Given the description of an element on the screen output the (x, y) to click on. 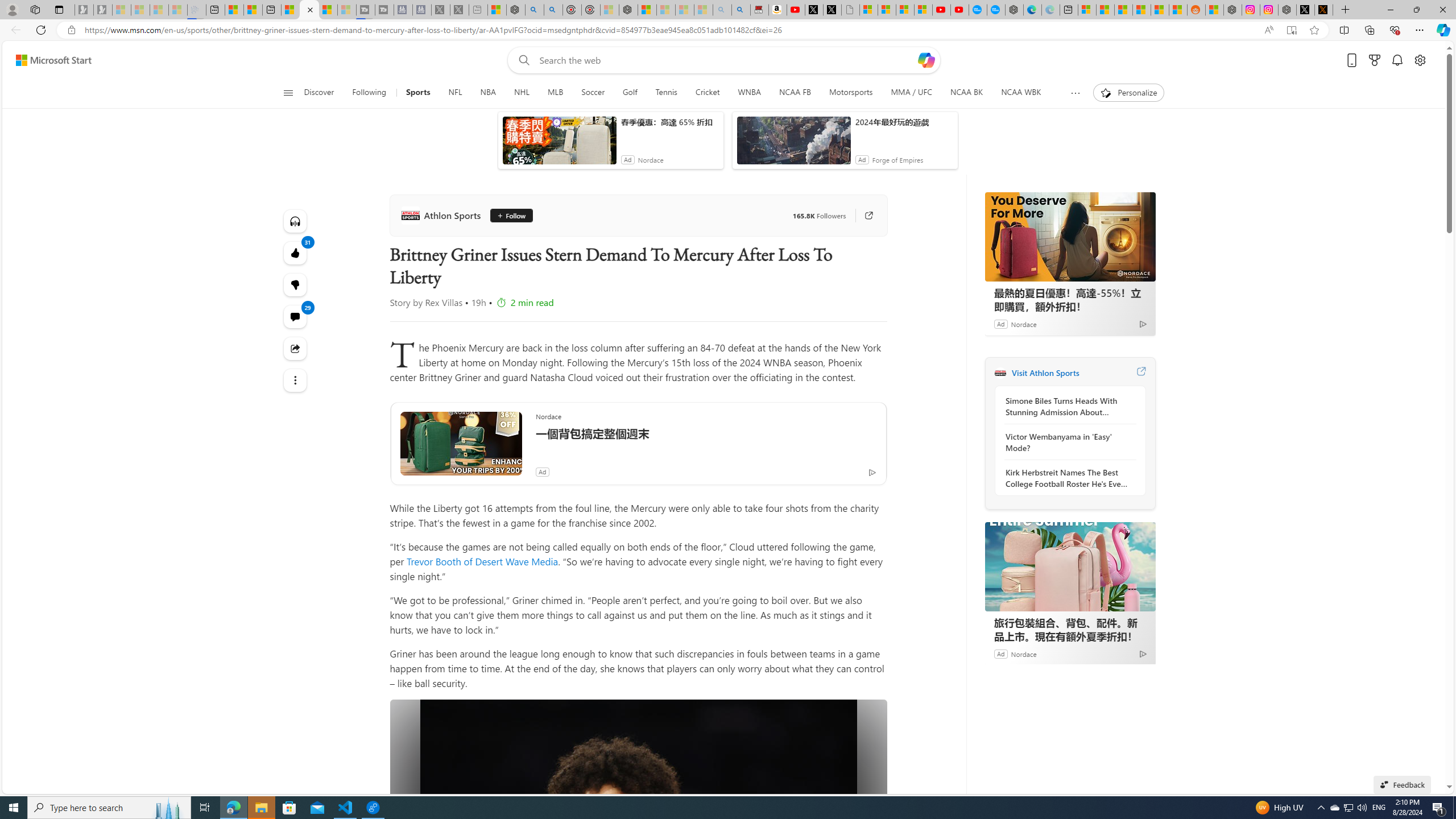
Close tab (309, 9)
Close (1442, 9)
Tab actions menu (58, 9)
Soccer (592, 92)
The most popular Google 'how to' searches (996, 9)
Minimize (1390, 9)
Gloom - YouTube (941, 9)
Listen to this article (295, 221)
Cricket (707, 92)
Soccer (592, 92)
MLB (555, 92)
Add this page to favorites (Ctrl+D) (1314, 29)
